Given the description of an element on the screen output the (x, y) to click on. 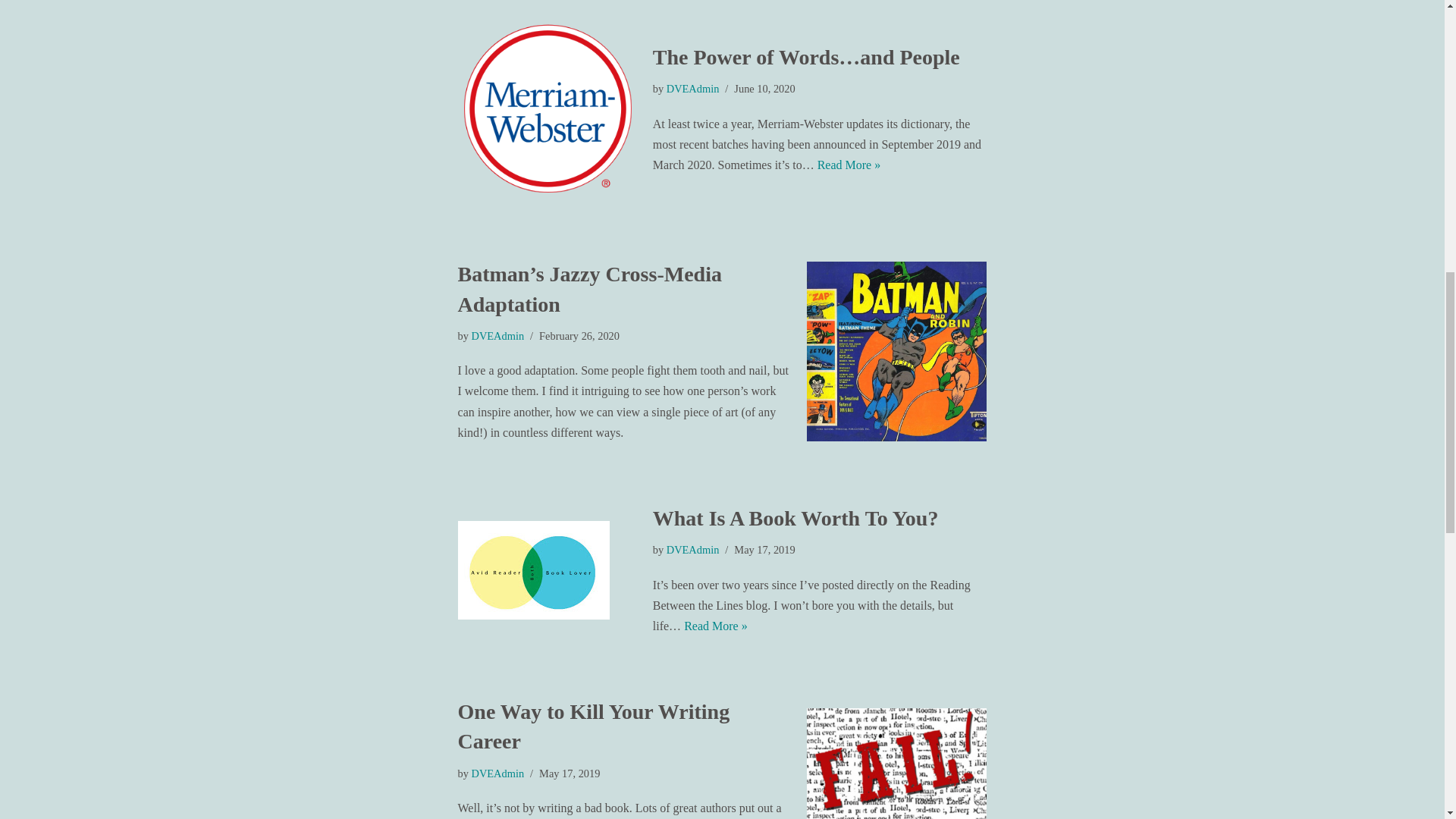
Posts by DVEAdmin (497, 773)
Posts by DVEAdmin (692, 88)
One Way to Kill Your Writing Career (896, 763)
Posts by DVEAdmin (692, 549)
What Is A Book Worth To You? (547, 569)
Posts by DVEAdmin (497, 336)
